Given the description of an element on the screen output the (x, y) to click on. 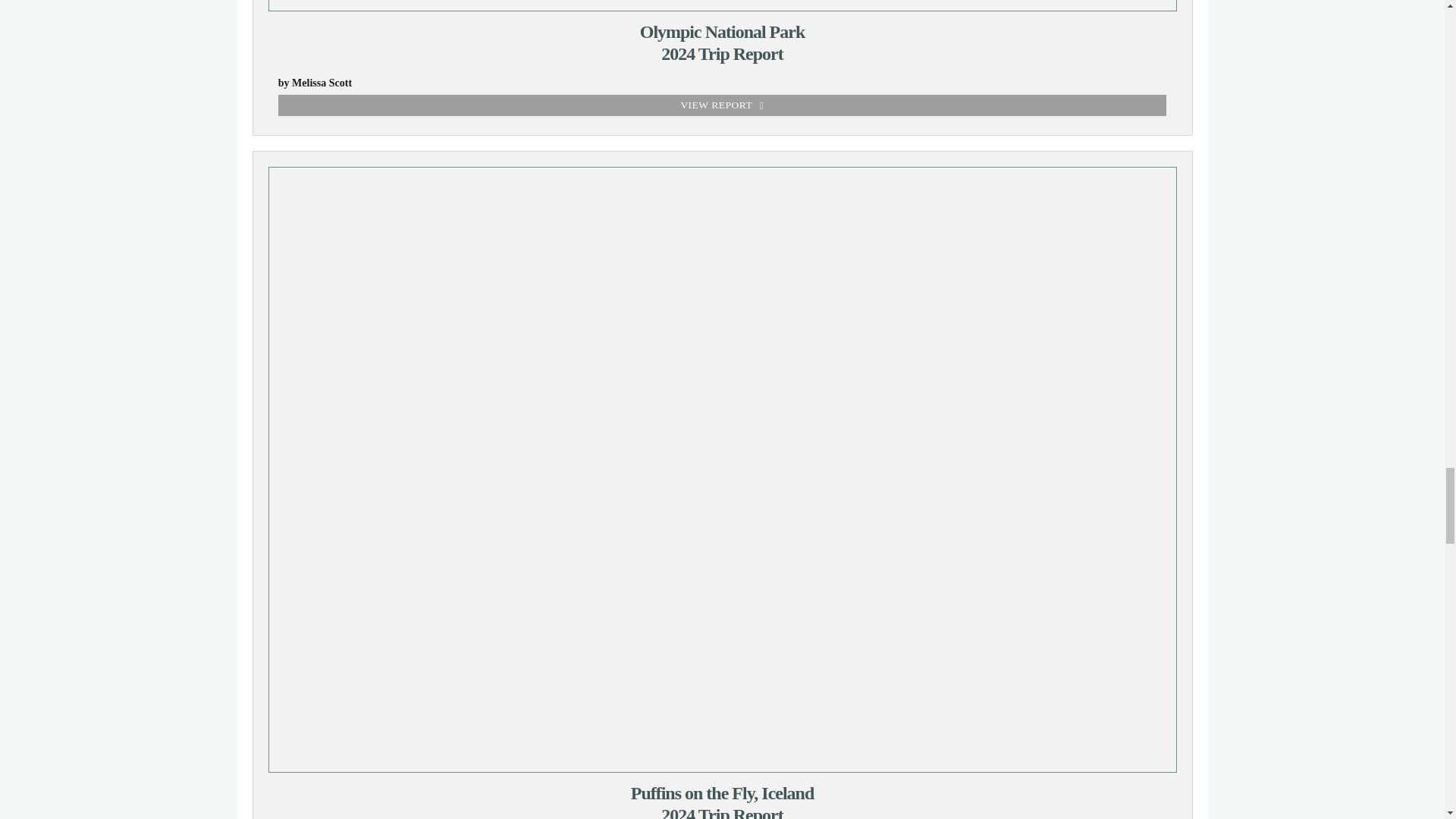
VIEW REPORT (722, 105)
